Given the description of an element on the screen output the (x, y) to click on. 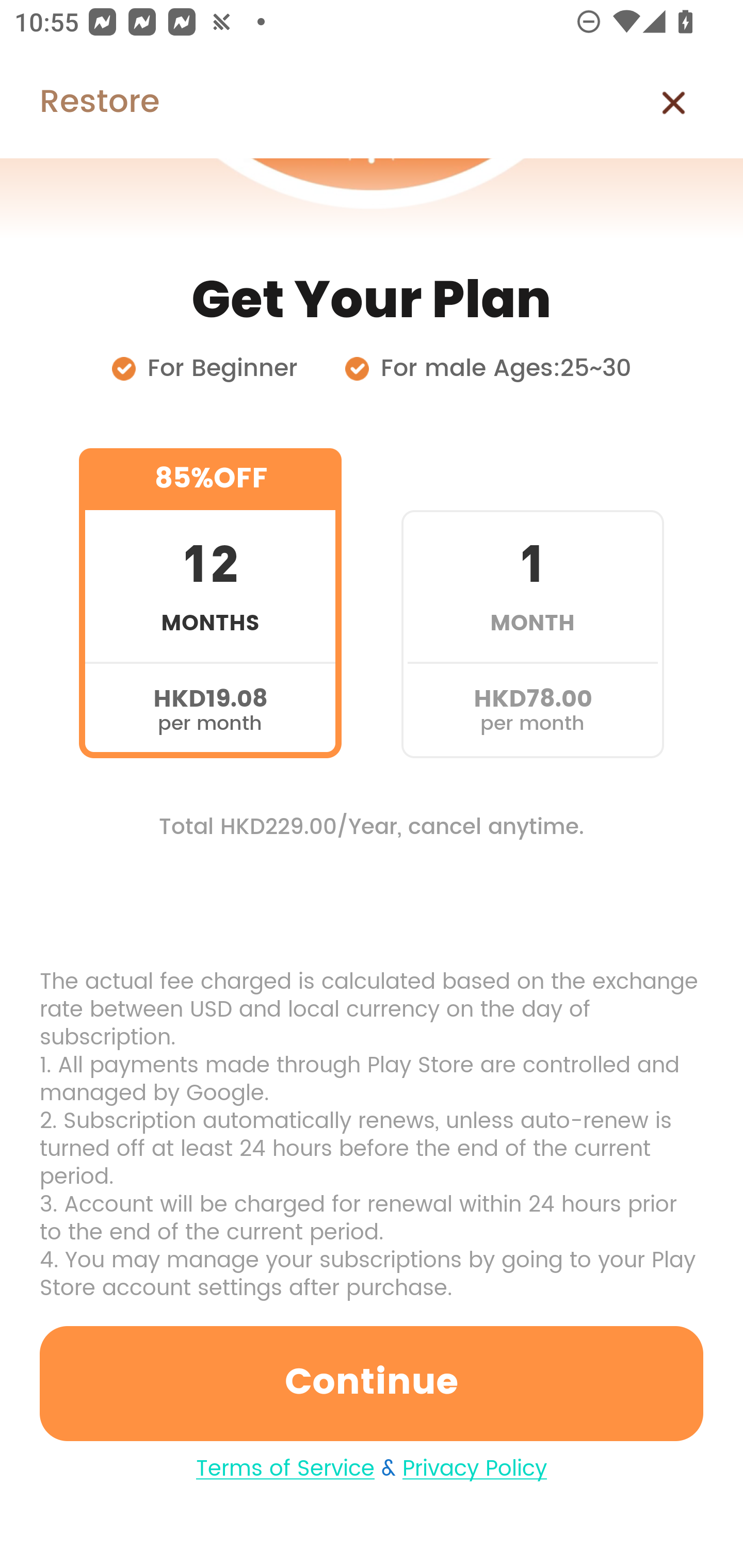
Restore (79, 102)
85%OFF 12 MONTHS per month HKD19.08 (209, 603)
1 MONTH per month HKD78.00 (532, 603)
Continue (371, 1383)
